Given the description of an element on the screen output the (x, y) to click on. 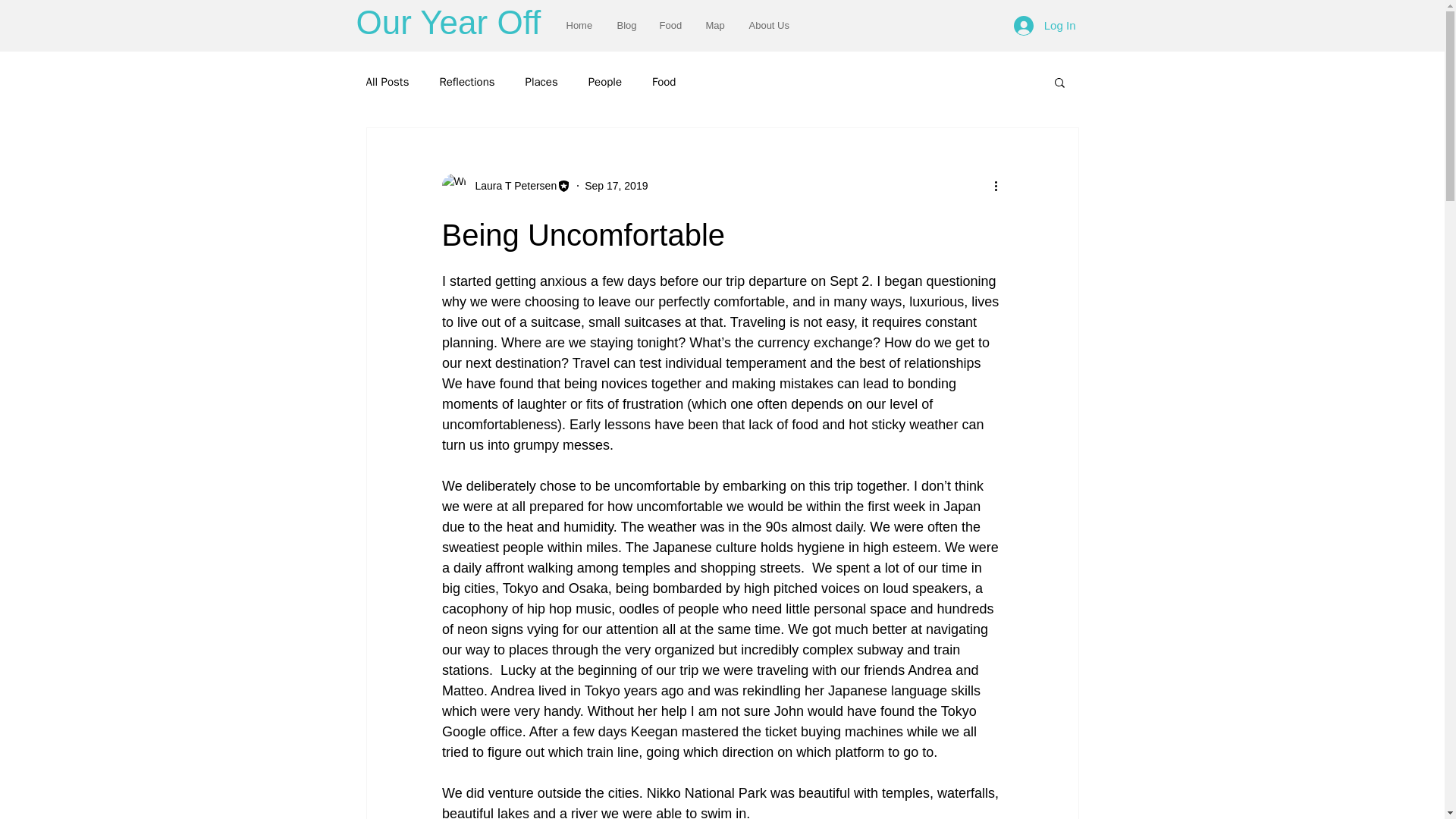
About Us (769, 25)
Log In (1044, 24)
Food (670, 25)
Map (716, 25)
Home (579, 25)
Places (541, 81)
Food (663, 81)
All Posts (387, 81)
Sep 17, 2019 (616, 184)
Laura T Petersen (510, 185)
Laura T Petersen (505, 185)
People (604, 81)
Reflections (467, 81)
Blog (626, 25)
